Given the description of an element on the screen output the (x, y) to click on. 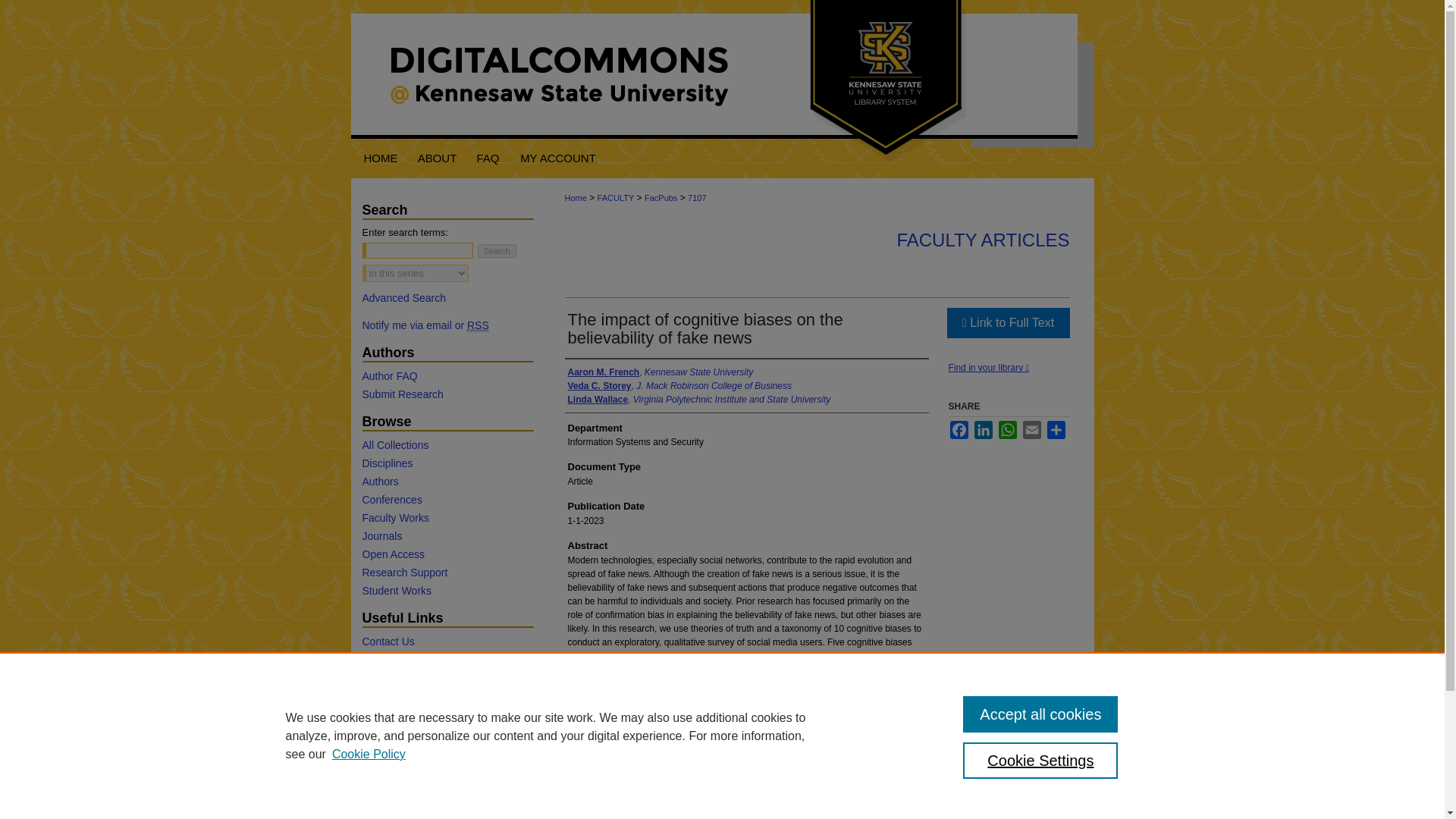
Email (1031, 429)
Author FAQ (447, 376)
FacPubs (661, 197)
Home (575, 197)
ABOUT (437, 158)
HOME (378, 158)
WhatsApp (1006, 429)
FAQ (488, 158)
Veda C. Storey, J. Mack Robinson College of Business (679, 386)
Conferences (447, 499)
Link opens in new window (1007, 322)
Aaron M. French, Kennesaw State University (659, 372)
My Account (558, 158)
Disciplines (447, 463)
Email or RSS Notifications (447, 325)
